Given the description of an element on the screen output the (x, y) to click on. 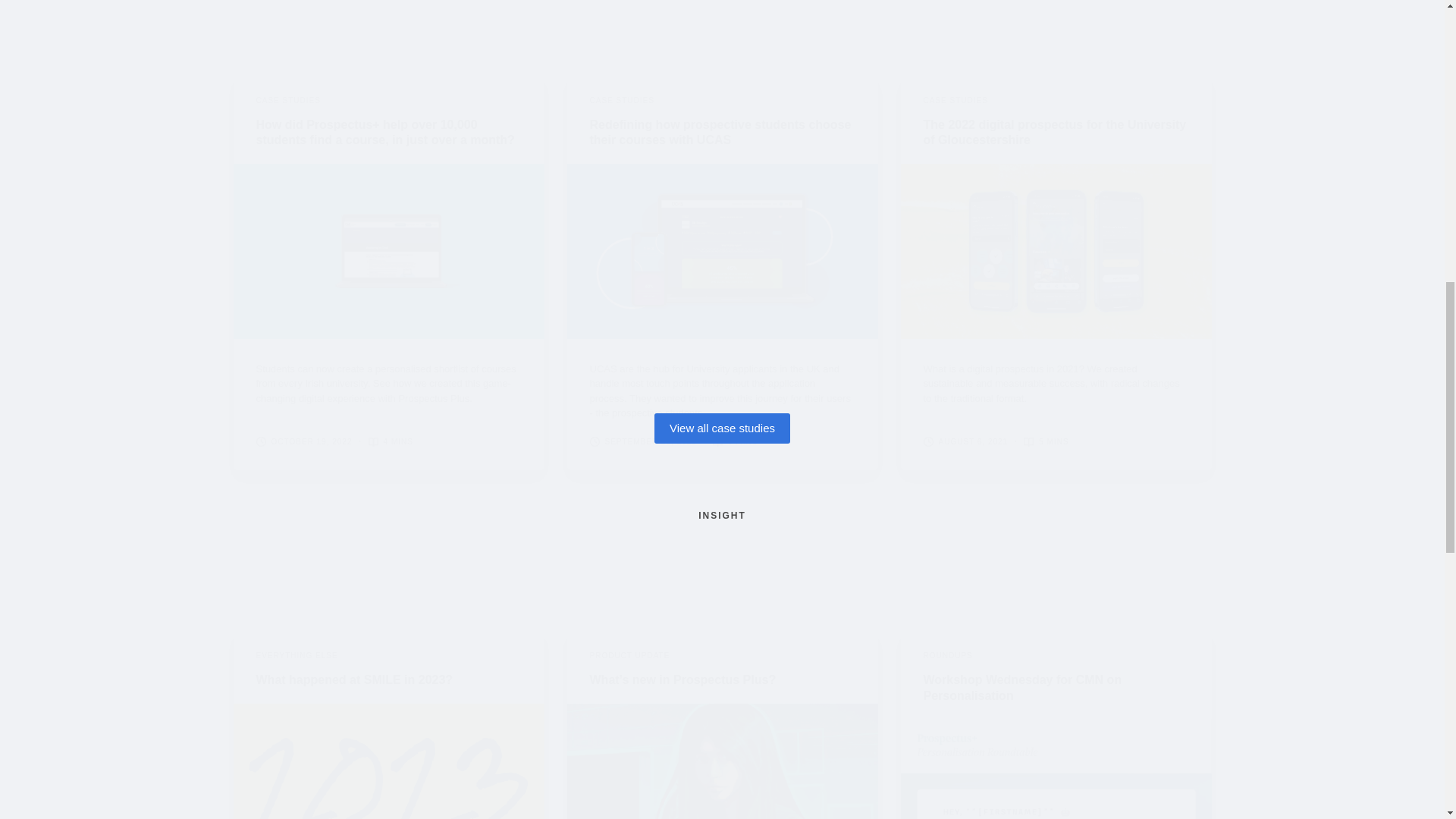
What happened at SMILE in 2023? 4 (388, 761)
